Given the description of an element on the screen output the (x, y) to click on. 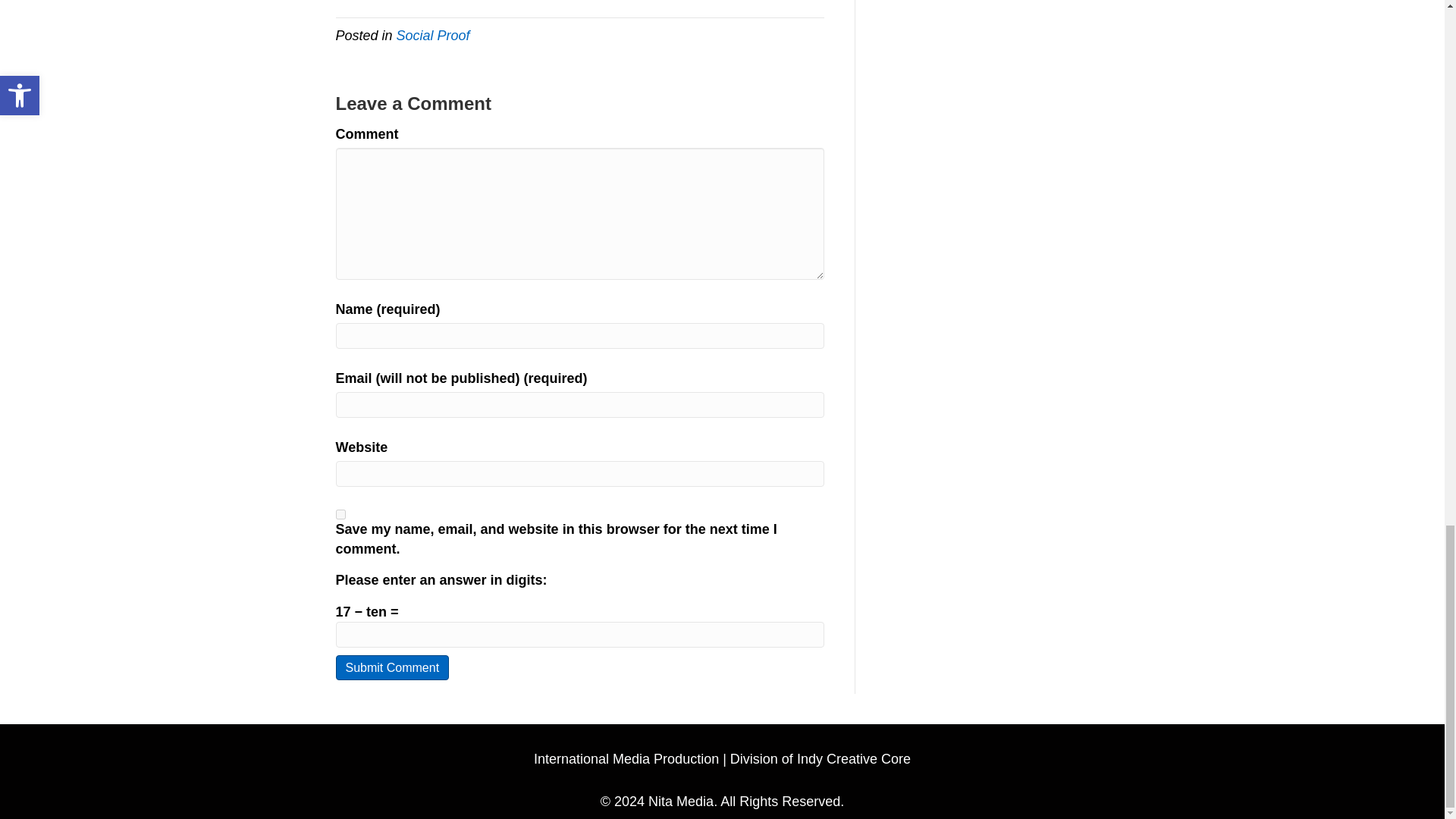
Submit Comment (391, 667)
Submit Comment (391, 667)
Social Proof (433, 35)
yes (339, 514)
Indy Creative Core (853, 758)
